Given the description of an element on the screen output the (x, y) to click on. 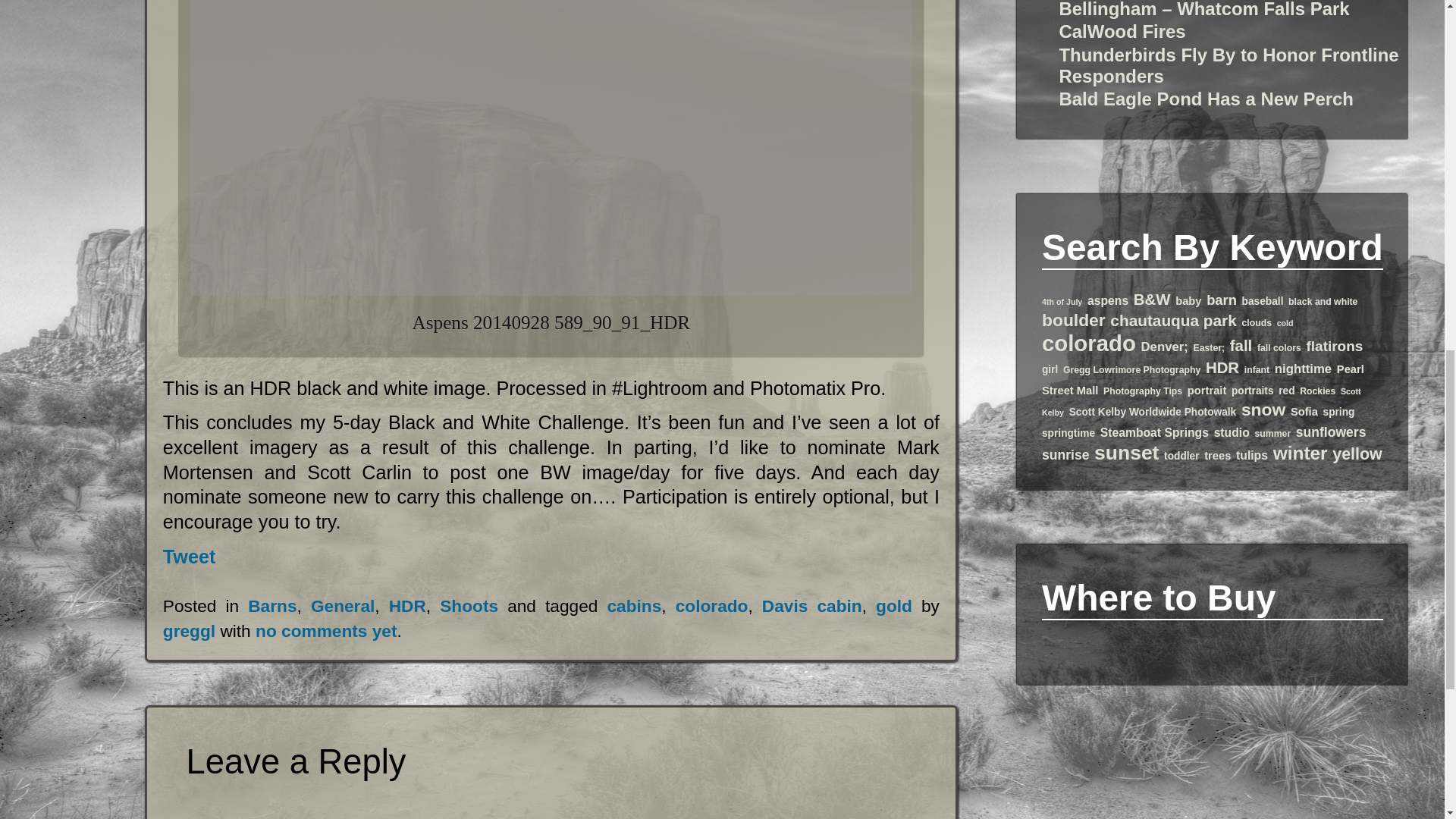
Davis cabin (811, 605)
logged in (339, 817)
Shoots (468, 605)
gold (894, 605)
Posts by greggl (189, 630)
aspens (1107, 300)
no comments yet (326, 630)
Bald Eagle Pond Has a New Perch (1205, 98)
colorado (711, 605)
Barns (272, 605)
